Given the description of an element on the screen output the (x, y) to click on. 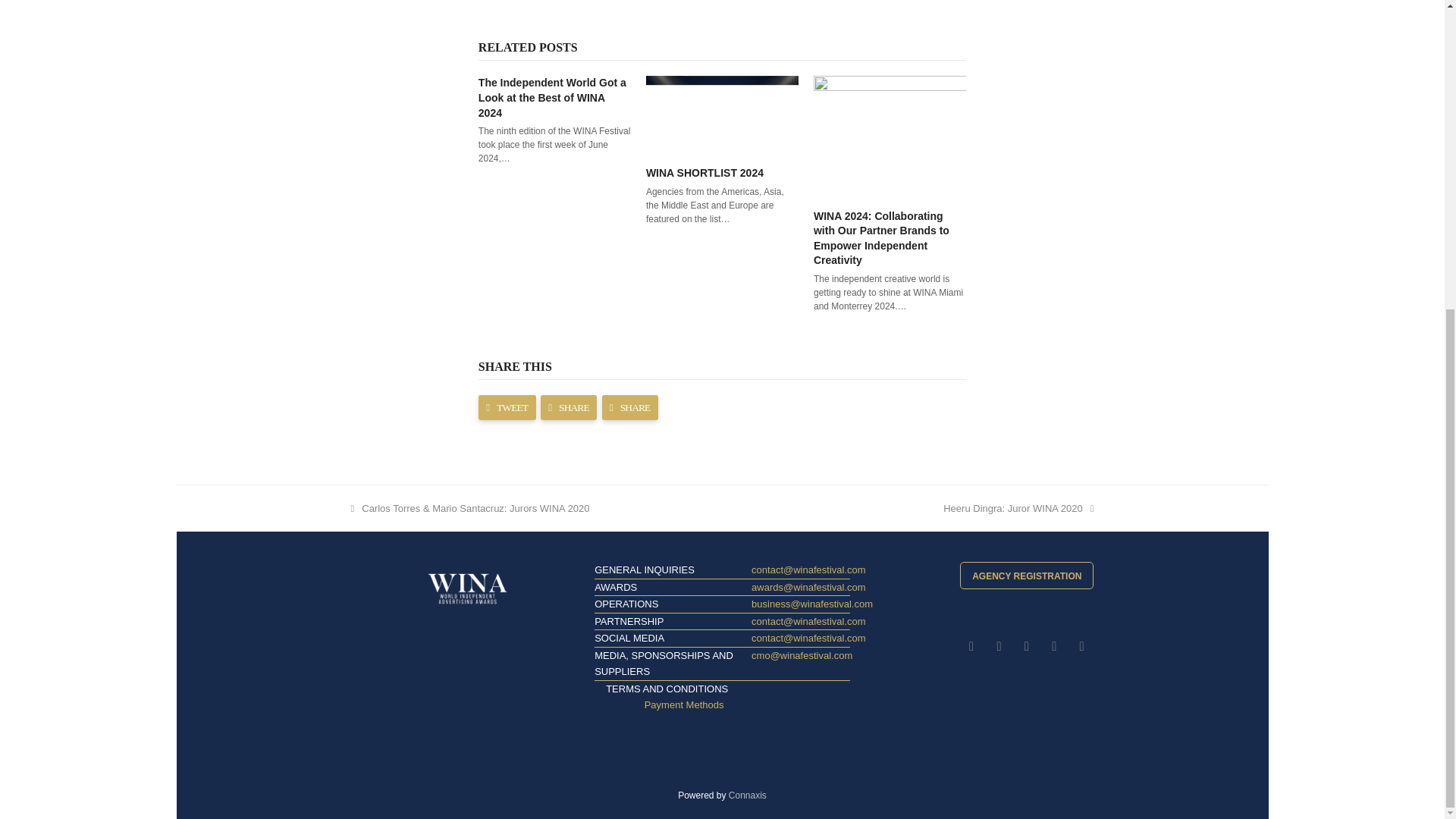
The Independent World Got a Look at the Best of WINA 2024 (552, 96)
SHARE (568, 407)
Instagram (1026, 646)
SHARE (630, 407)
Youtube (1081, 646)
Facebook (998, 646)
TWEET (507, 407)
WINA SHORTLIST 2024 (704, 173)
LinkedIn (1053, 646)
WINA SHORTLIST 2024 (721, 114)
